Given the description of an element on the screen output the (x, y) to click on. 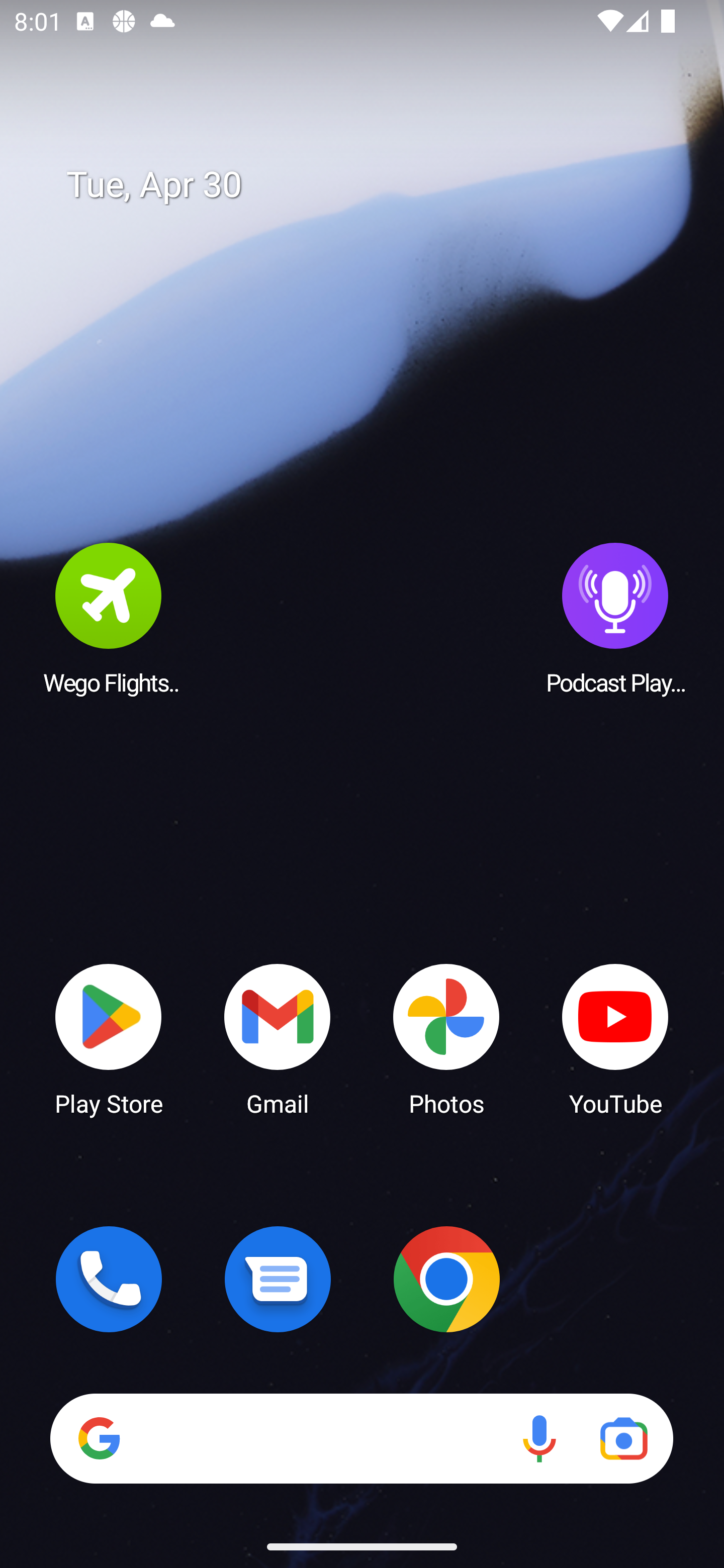
Tue, Apr 30 (375, 184)
Wego Flights & Hotels (108, 617)
Podcast Player (615, 617)
Play Store (108, 1038)
Gmail (277, 1038)
Photos (445, 1038)
YouTube (615, 1038)
Phone (108, 1279)
Messages (277, 1279)
Chrome (446, 1279)
Voice search (539, 1438)
Google Lens (623, 1438)
